Given the description of an element on the screen output the (x, y) to click on. 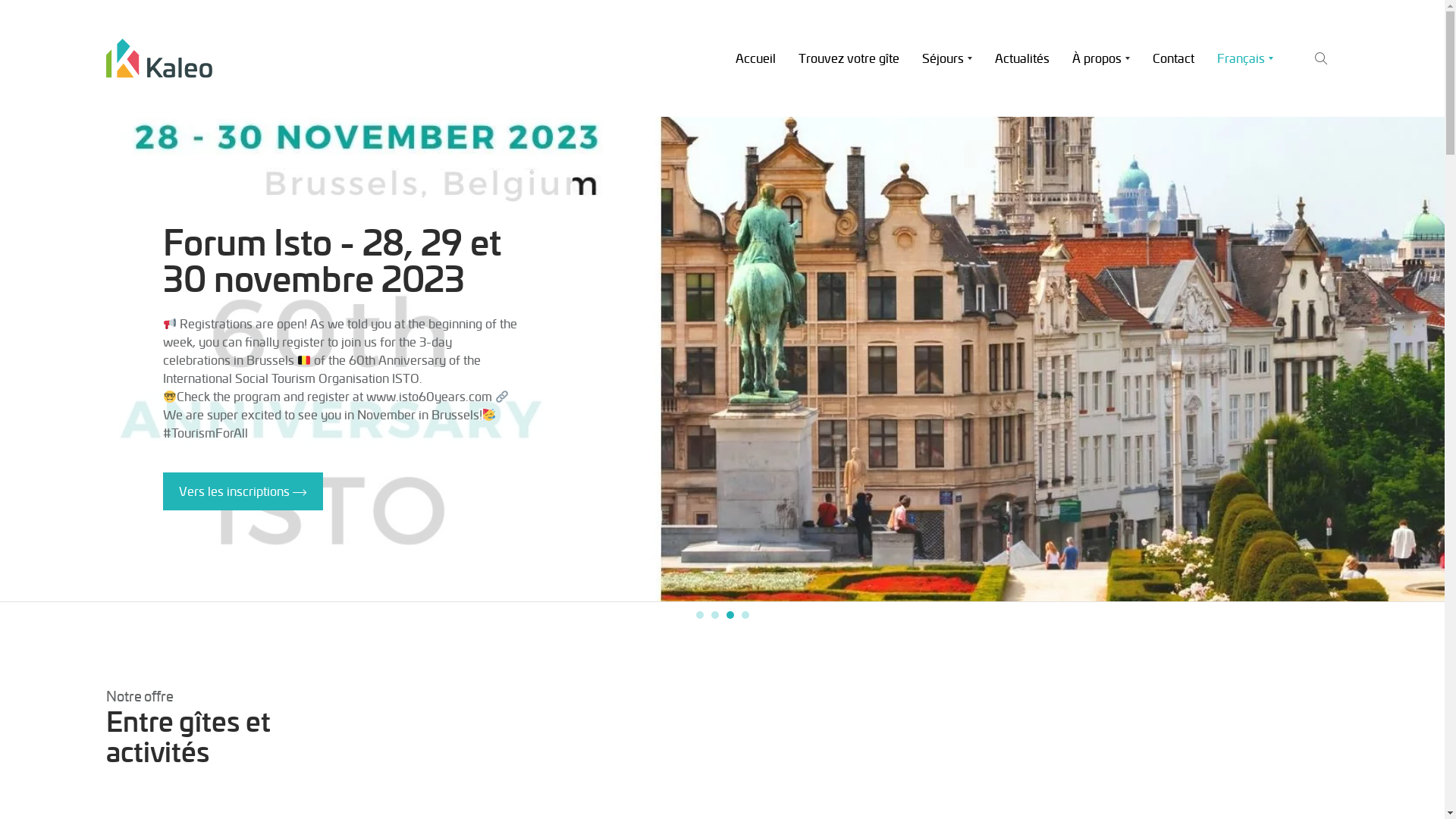
Accueil Element type: text (755, 57)
Contact Element type: text (1173, 57)
Rechercher Element type: text (1320, 152)
